Given the description of an element on the screen output the (x, y) to click on. 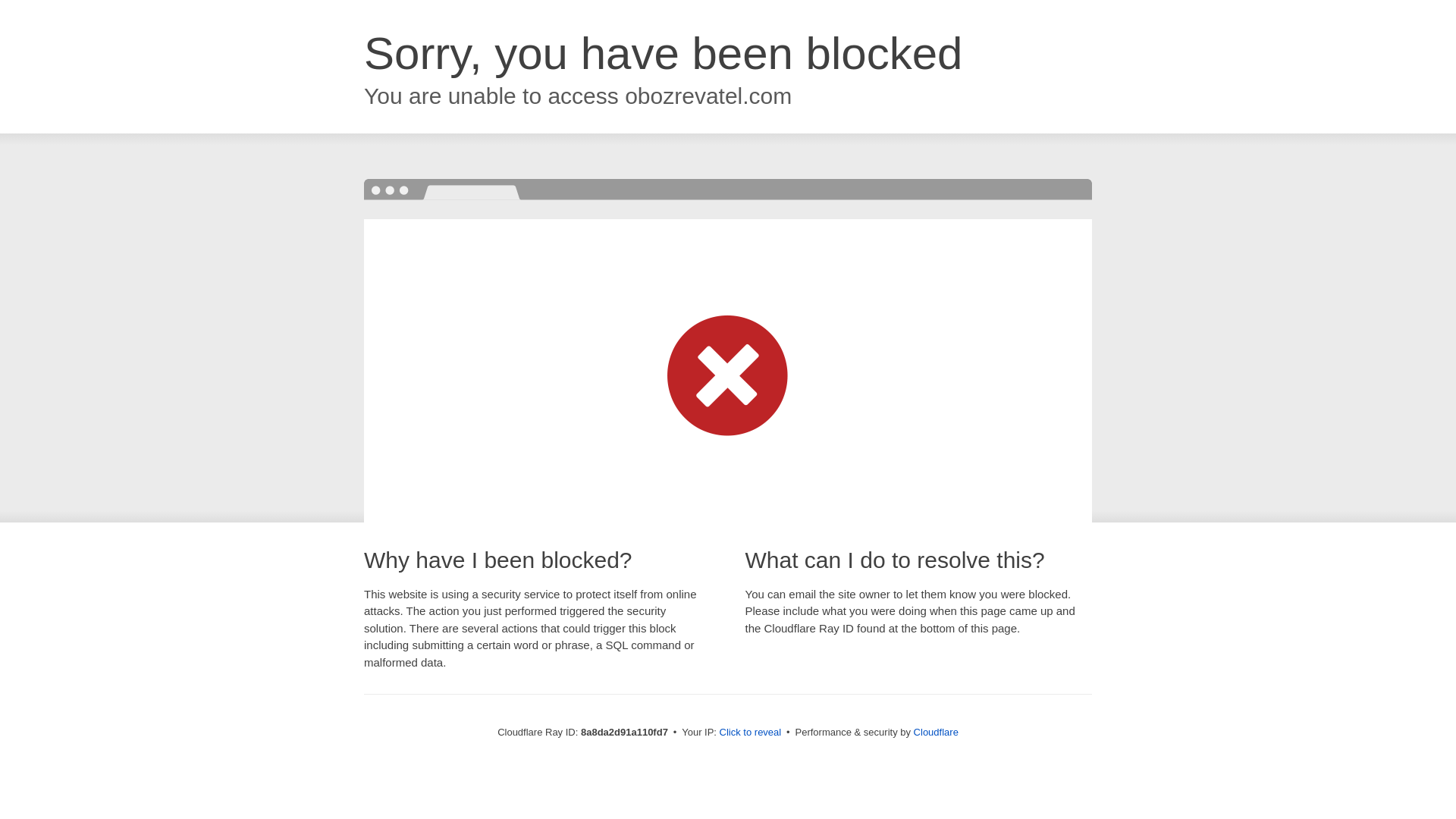
Cloudflare (936, 731)
Click to reveal (750, 732)
